Given the description of an element on the screen output the (x, y) to click on. 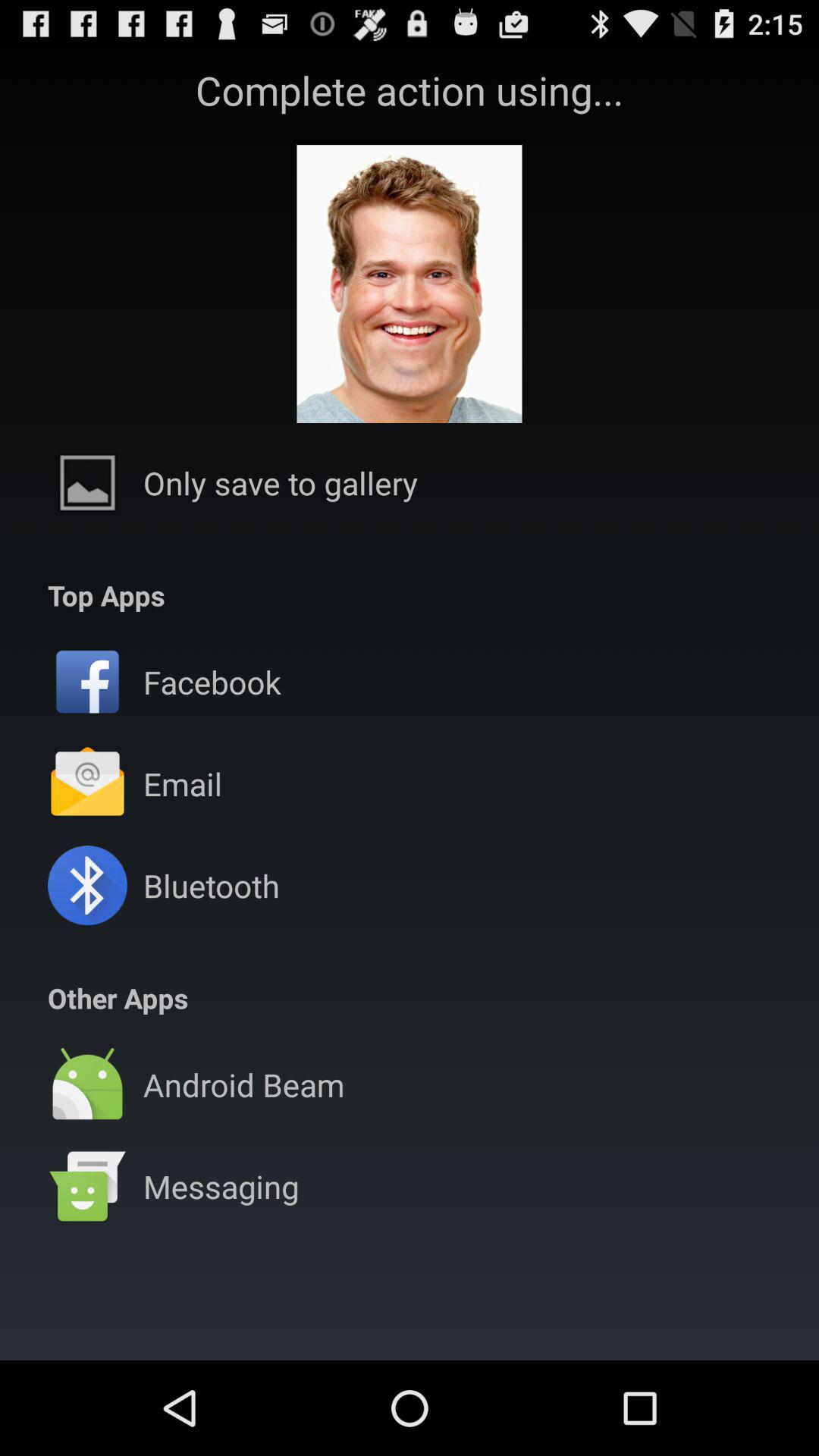
scroll until the android beam (243, 1084)
